Given the description of an element on the screen output the (x, y) to click on. 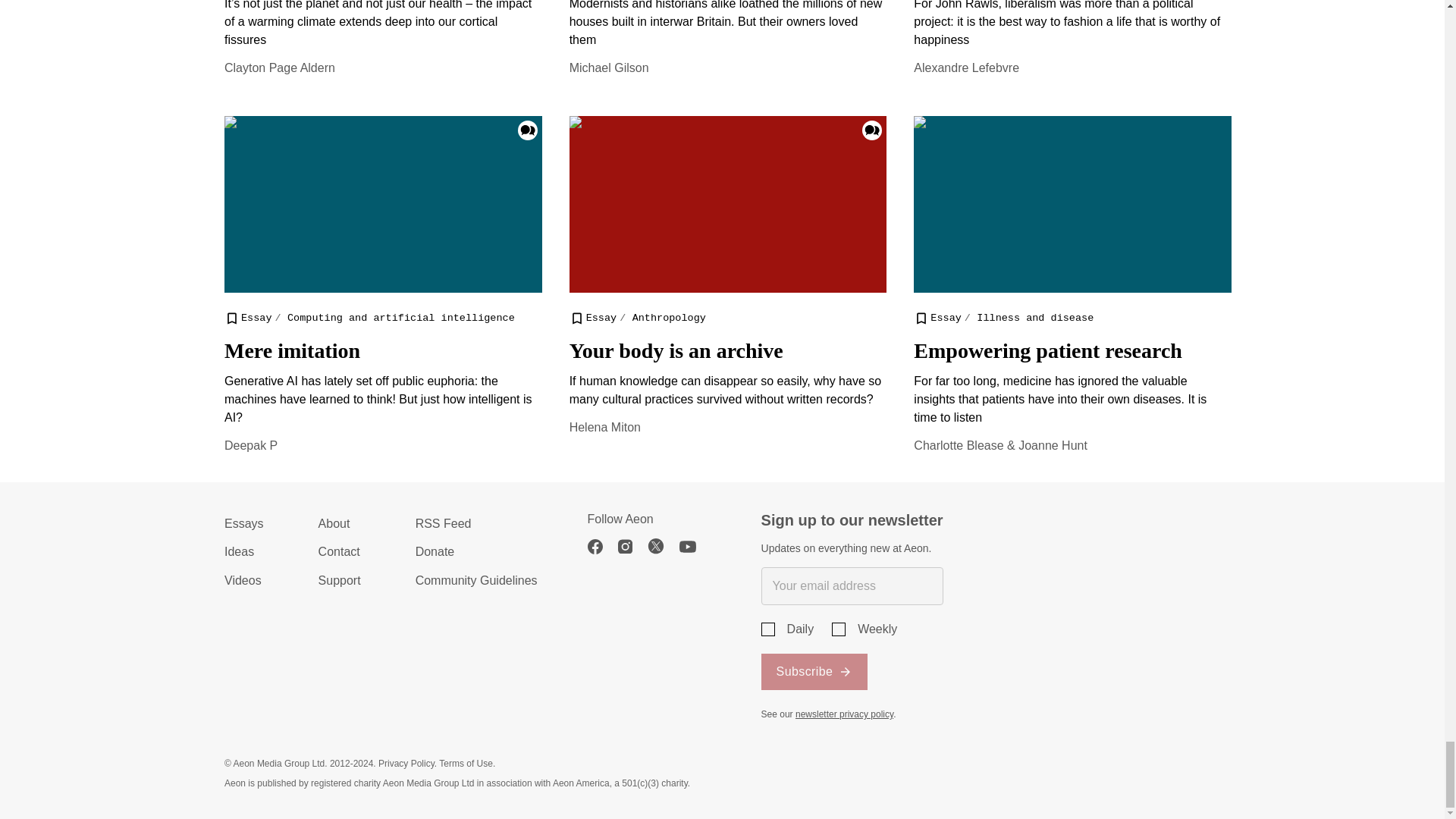
YouTube (695, 545)
Facebook (602, 545)
Instagram (632, 545)
